Given the description of an element on the screen output the (x, y) to click on. 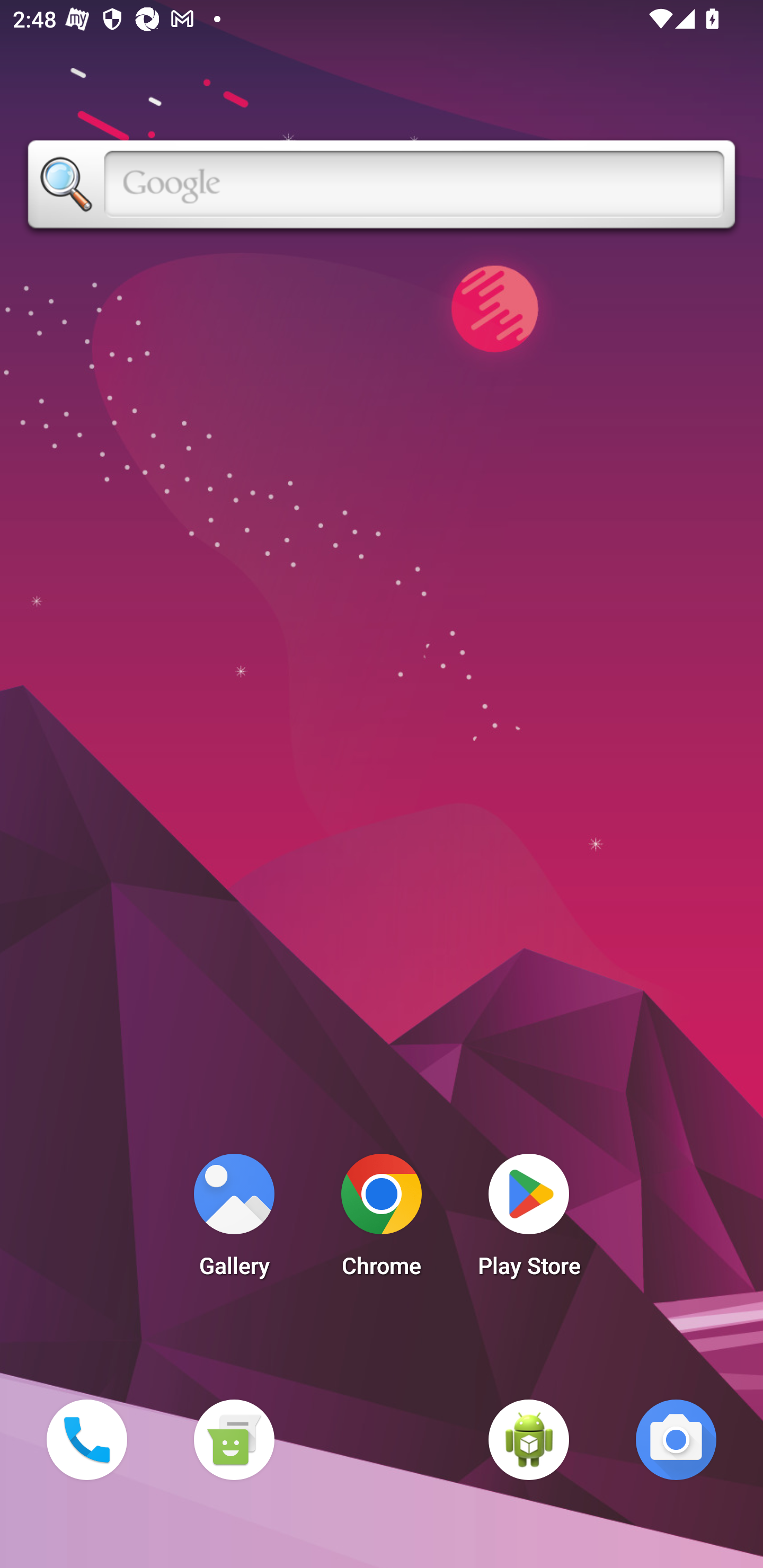
Gallery (233, 1220)
Chrome (381, 1220)
Play Store (528, 1220)
Phone (86, 1439)
Messaging (233, 1439)
WebView Browser Tester (528, 1439)
Camera (676, 1439)
